Given the description of an element on the screen output the (x, y) to click on. 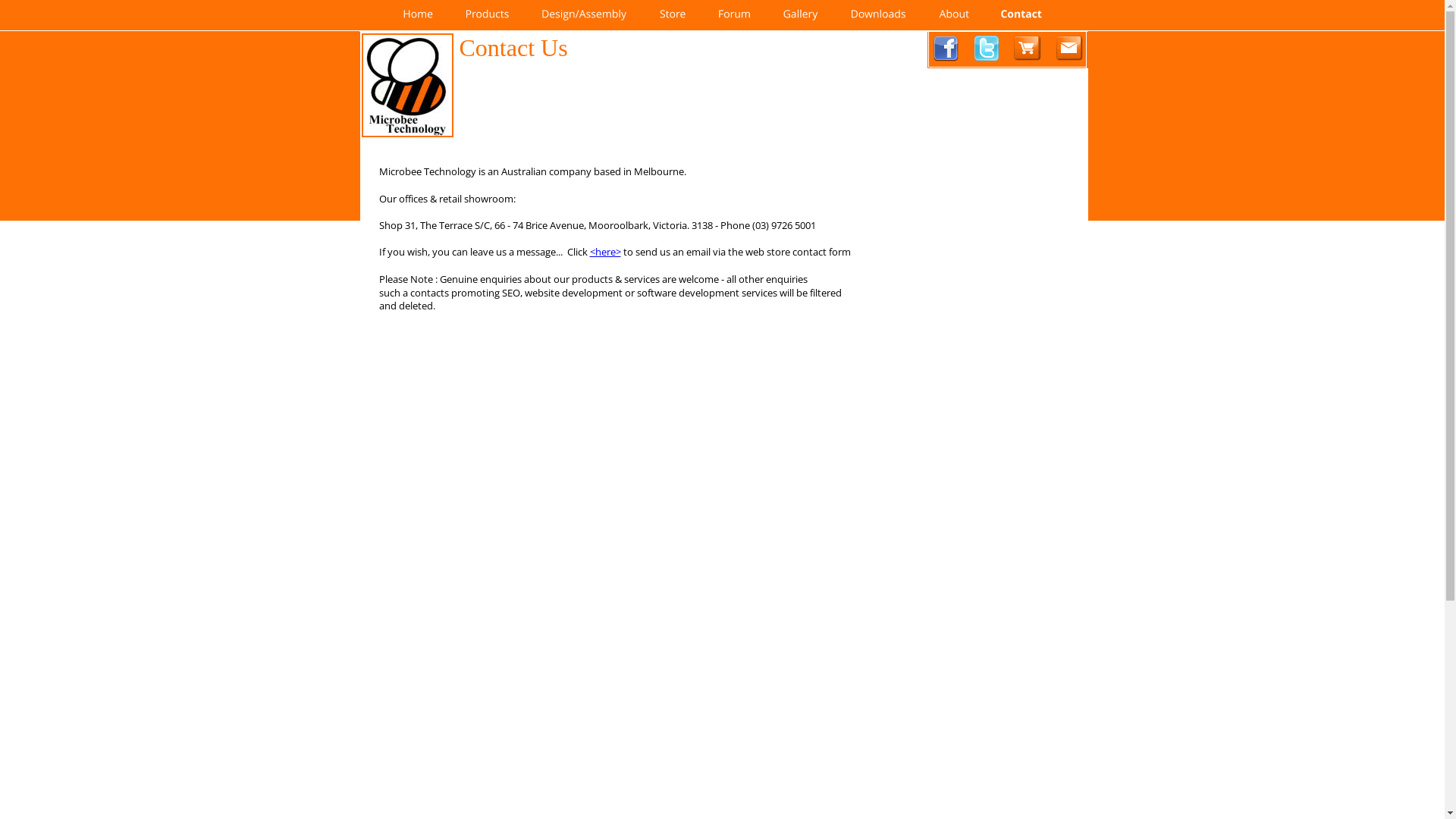
<here> Element type: text (605, 251)
